Given the description of an element on the screen output the (x, y) to click on. 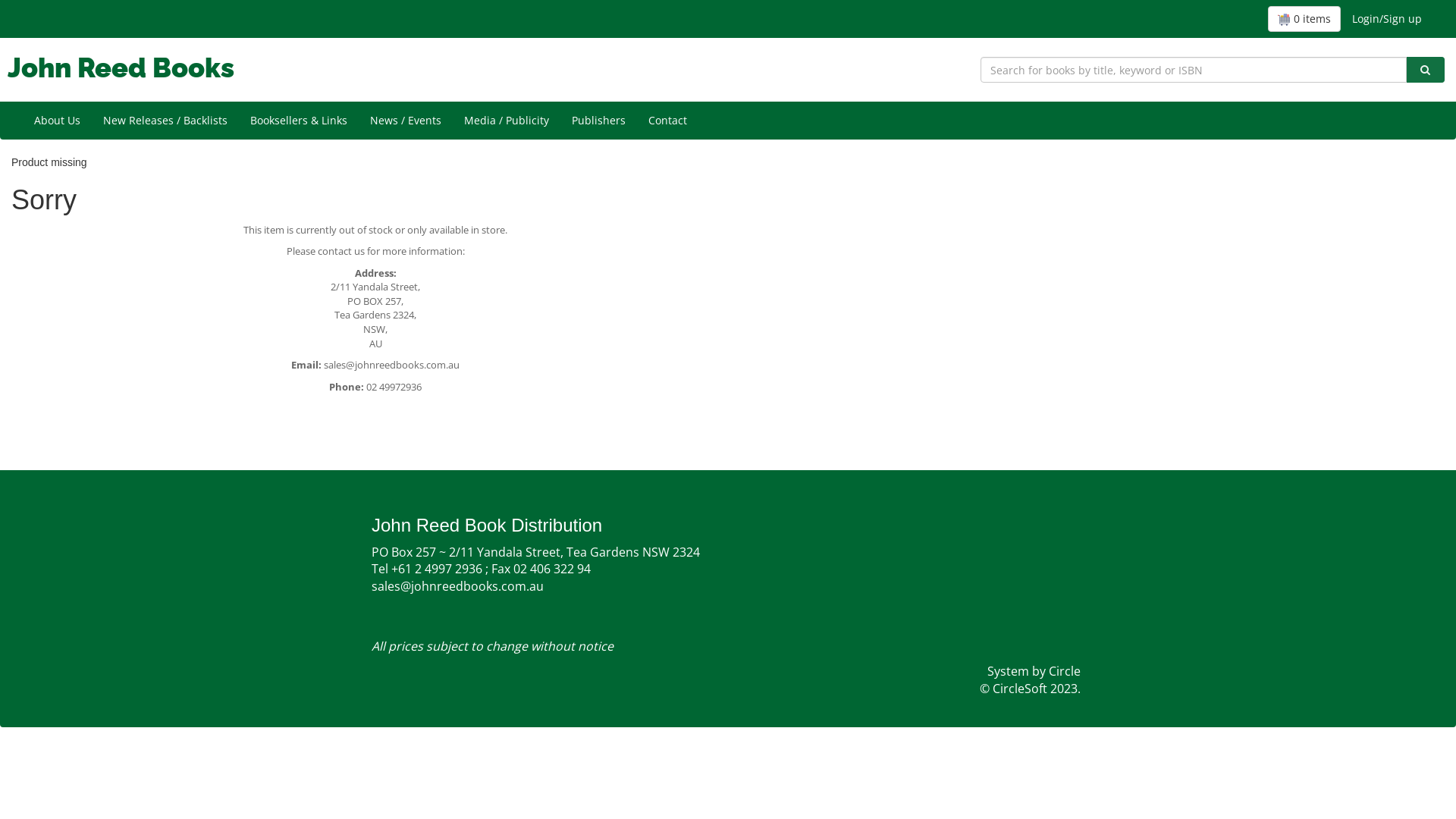
sales@johnreedbooks.com.au Element type: text (391, 364)
New Releases / Backlists Element type: text (164, 120)
Booksellers & Links Element type: text (298, 120)
Login/Sign up Element type: text (1386, 18)
sales@johnreedbooks.com.au Element type: text (480, 594)
0 items Element type: text (1303, 18)
Publishers Element type: text (598, 120)
News / Events Element type: text (405, 120)
0 items Element type: text (1303, 18)
Contact Element type: text (667, 120)
John Reed Books Element type: text (120, 67)
System by Circle Element type: text (1033, 671)
About Us Element type: text (56, 120)
Media / Publicity Element type: text (506, 120)
